Given the description of an element on the screen output the (x, y) to click on. 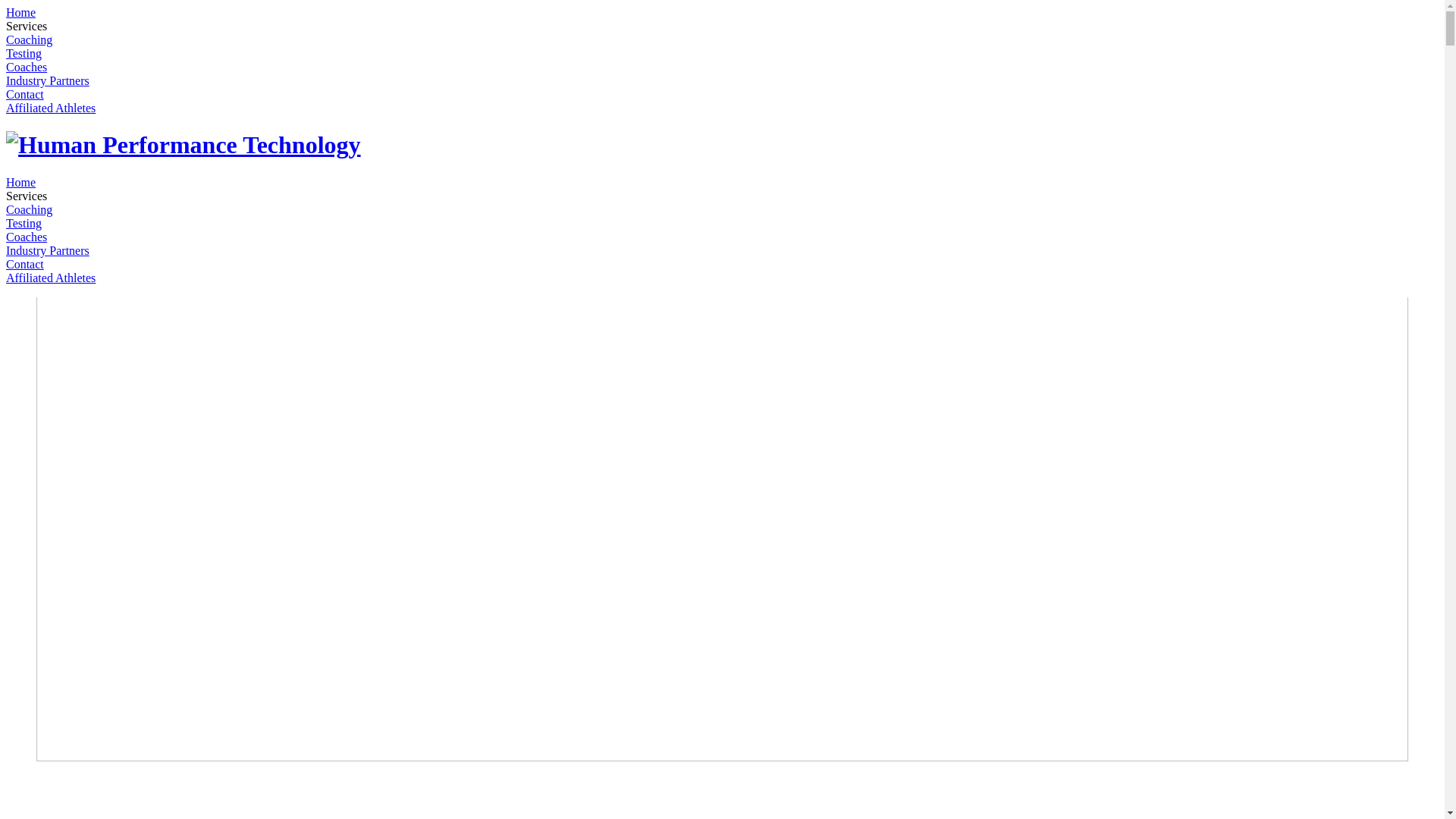
Coaches Element type: text (26, 236)
Testing Element type: text (23, 222)
Home Element type: text (20, 181)
Industry Partners Element type: text (47, 80)
Affiliated Athletes Element type: text (50, 107)
Contact Element type: text (24, 263)
Industry Partners Element type: text (47, 250)
Testing Element type: text (23, 53)
Contact Element type: text (24, 93)
Home Element type: text (20, 12)
Coaching Element type: text (29, 209)
Coaching Element type: text (29, 39)
Coaches Element type: text (26, 66)
Affiliated Athletes Element type: text (50, 277)
